Given the description of an element on the screen output the (x, y) to click on. 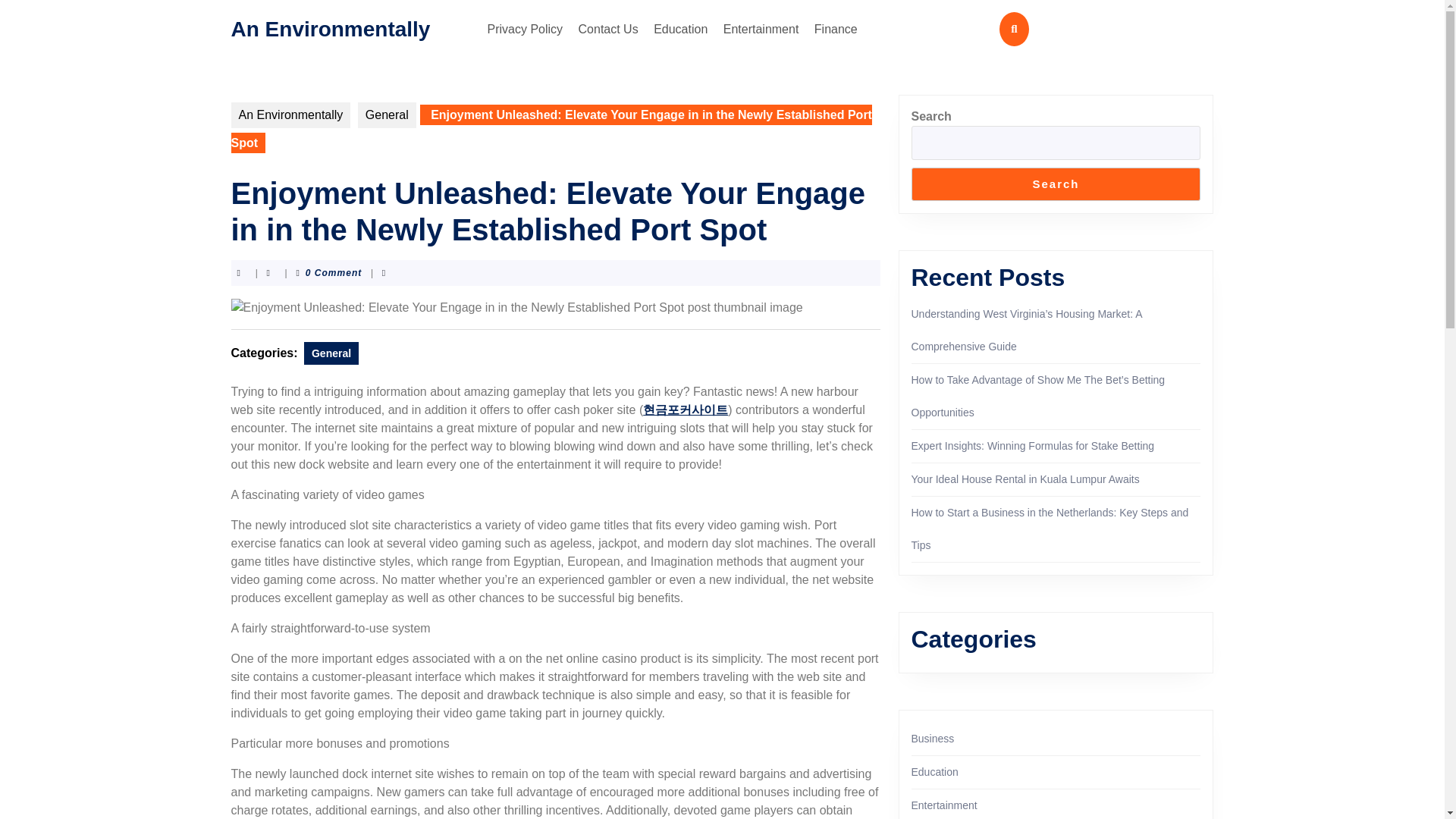
Search (1056, 183)
Your Ideal House Rental in Kuala Lumpur Awaits (1025, 479)
Privacy Policy (524, 28)
An Environmentally (290, 114)
Education (680, 28)
Entertainment (761, 28)
Expert Insights: Winning Formulas for Stake Betting (1032, 445)
Finance (835, 28)
Contact Us (608, 28)
Business (933, 738)
General (331, 353)
General (387, 114)
An Environmentally (329, 28)
